Given the description of an element on the screen output the (x, y) to click on. 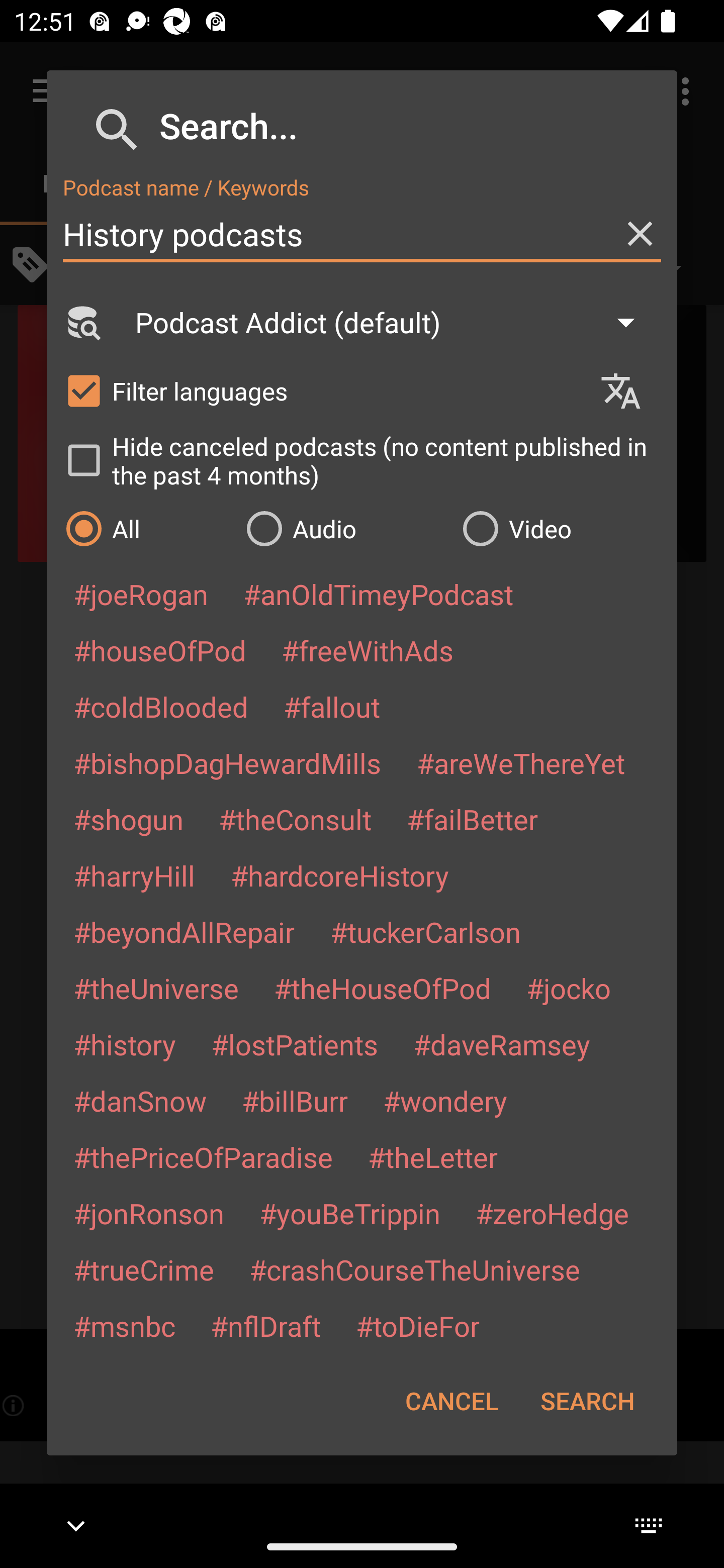
History podcasts (361, 234)
Search Engine (82, 322)
Podcast Addict (default) (394, 322)
Languages selection (629, 390)
Filter languages (322, 390)
All (145, 528)
Audio (344, 528)
Video (560, 528)
#joeRogan (140, 594)
#anOldTimeyPodcast (378, 594)
#houseOfPod (159, 650)
#freeWithAds (367, 650)
#coldBlooded (160, 705)
#fallout (331, 705)
#bishopDagHewardMills (227, 762)
#areWeThereYet (521, 762)
#shogun (128, 818)
#theConsult (294, 818)
#failBetter (471, 818)
#harryHill (134, 875)
#hardcoreHistory (339, 875)
#beyondAllRepair (184, 931)
#tuckerCarlson (425, 931)
#theUniverse (155, 987)
#theHouseOfPod (381, 987)
#jocko (568, 987)
#history (124, 1044)
#lostPatients (294, 1044)
#daveRamsey (501, 1044)
#danSnow (139, 1100)
#billBurr (294, 1100)
#wondery (444, 1100)
#thePriceOfParadise (203, 1157)
#theLetter (432, 1157)
#jonRonson (148, 1213)
#youBeTrippin (349, 1213)
#zeroHedge (552, 1213)
#trueCrime (143, 1268)
#crashCourseTheUniverse (414, 1268)
#msnbc (124, 1325)
#nflDraft (265, 1325)
#toDieFor (417, 1325)
CANCEL (451, 1400)
SEARCH (587, 1400)
